Given the description of an element on the screen output the (x, y) to click on. 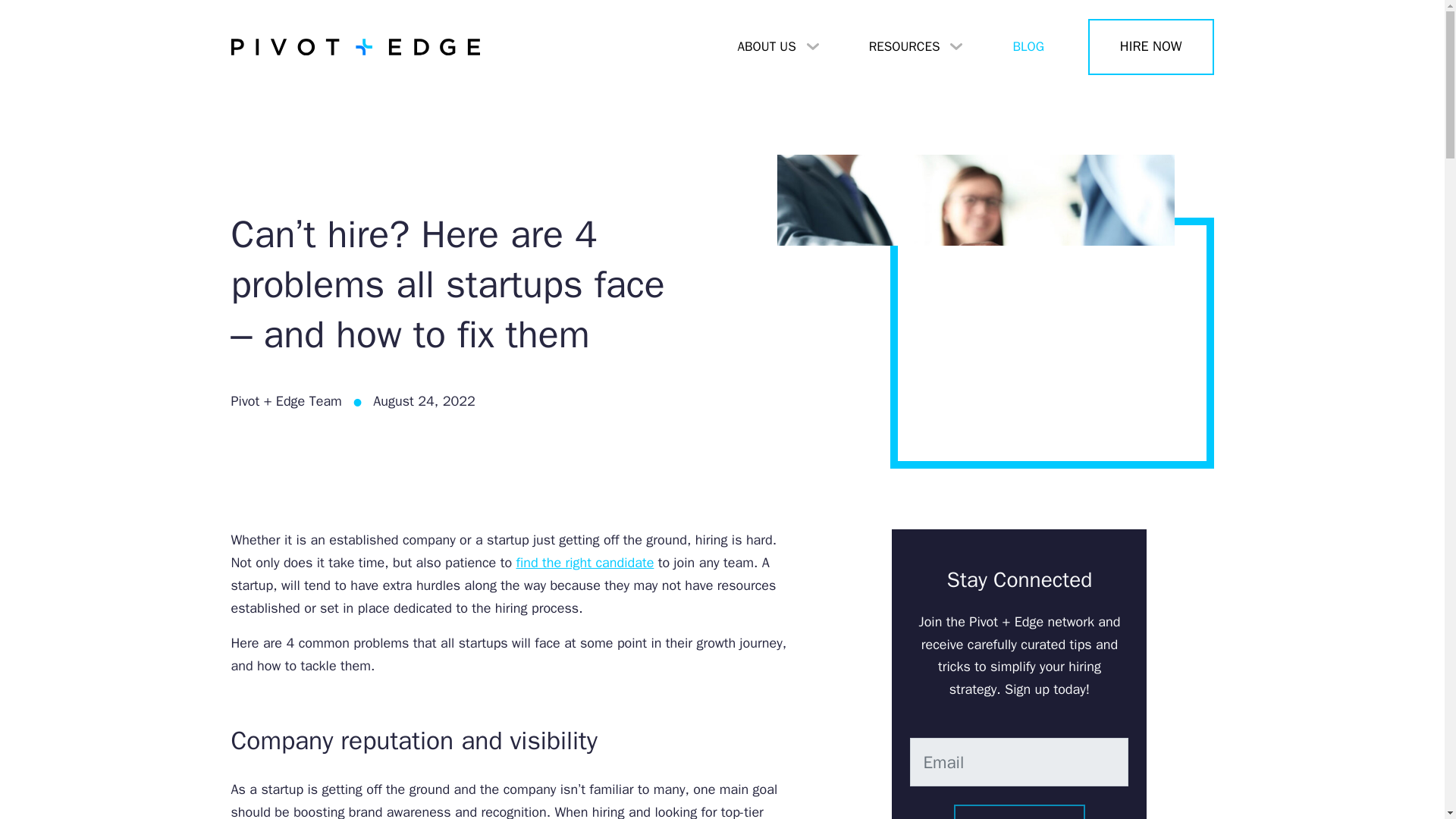
RESOURCES (916, 46)
find the right candidate (584, 562)
Subscribe (1018, 811)
ABOUT US (778, 46)
Subscribe (1018, 811)
HIRE NOW (1150, 46)
BLOG (1027, 46)
